Given the description of an element on the screen output the (x, y) to click on. 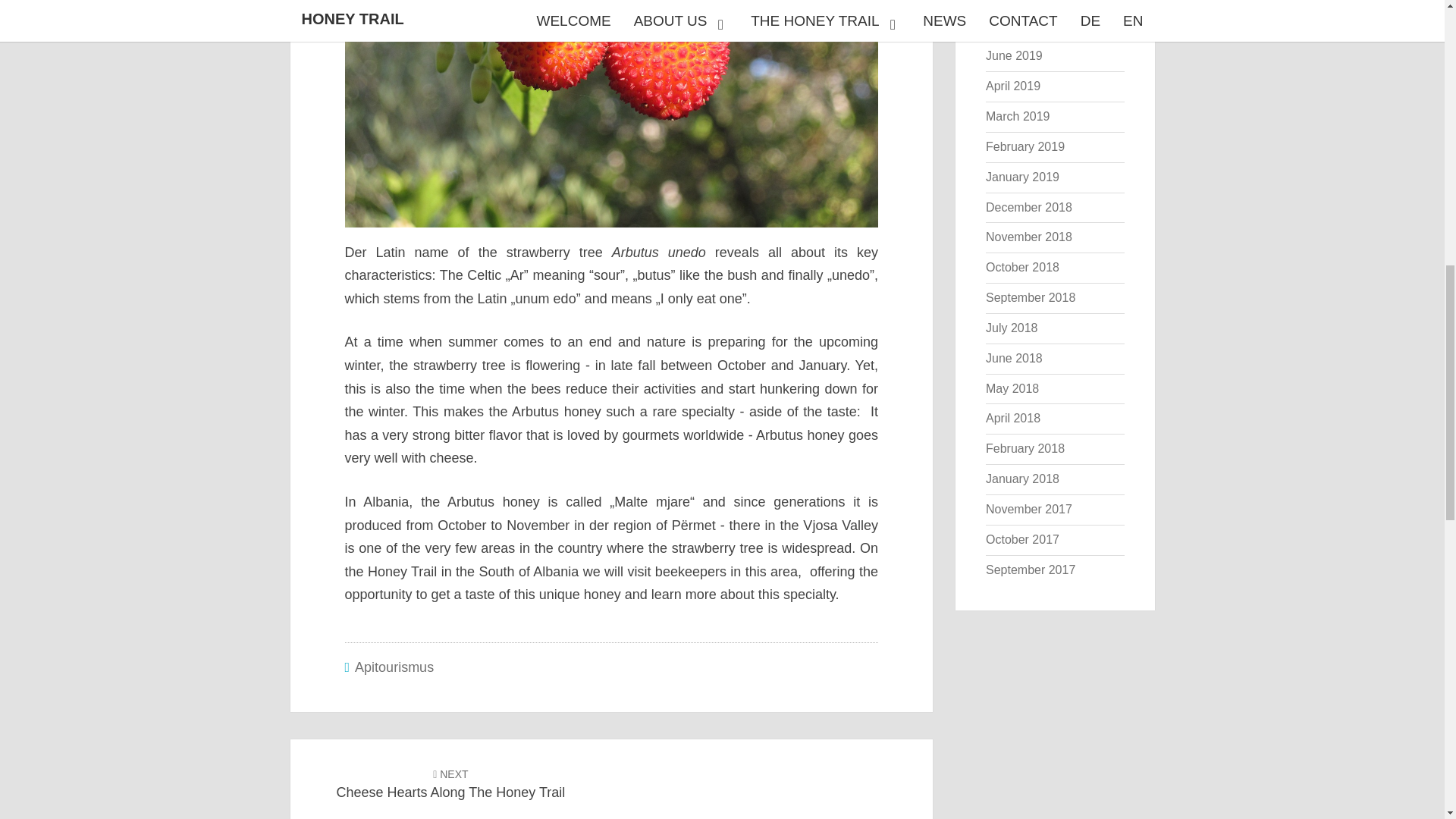
December 2018 (1028, 206)
July 2018 (1011, 327)
Apitourismus (394, 667)
June 2019 (1013, 55)
November 2018 (1028, 236)
January 2019 (450, 782)
June 2018 (1022, 176)
April 2019 (1013, 358)
January 2020 (1013, 85)
February 2019 (1022, 1)
March 2019 (1024, 146)
September 2018 (1017, 115)
October 2019 (1030, 297)
October 2018 (1022, 24)
